Given the description of an element on the screen output the (x, y) to click on. 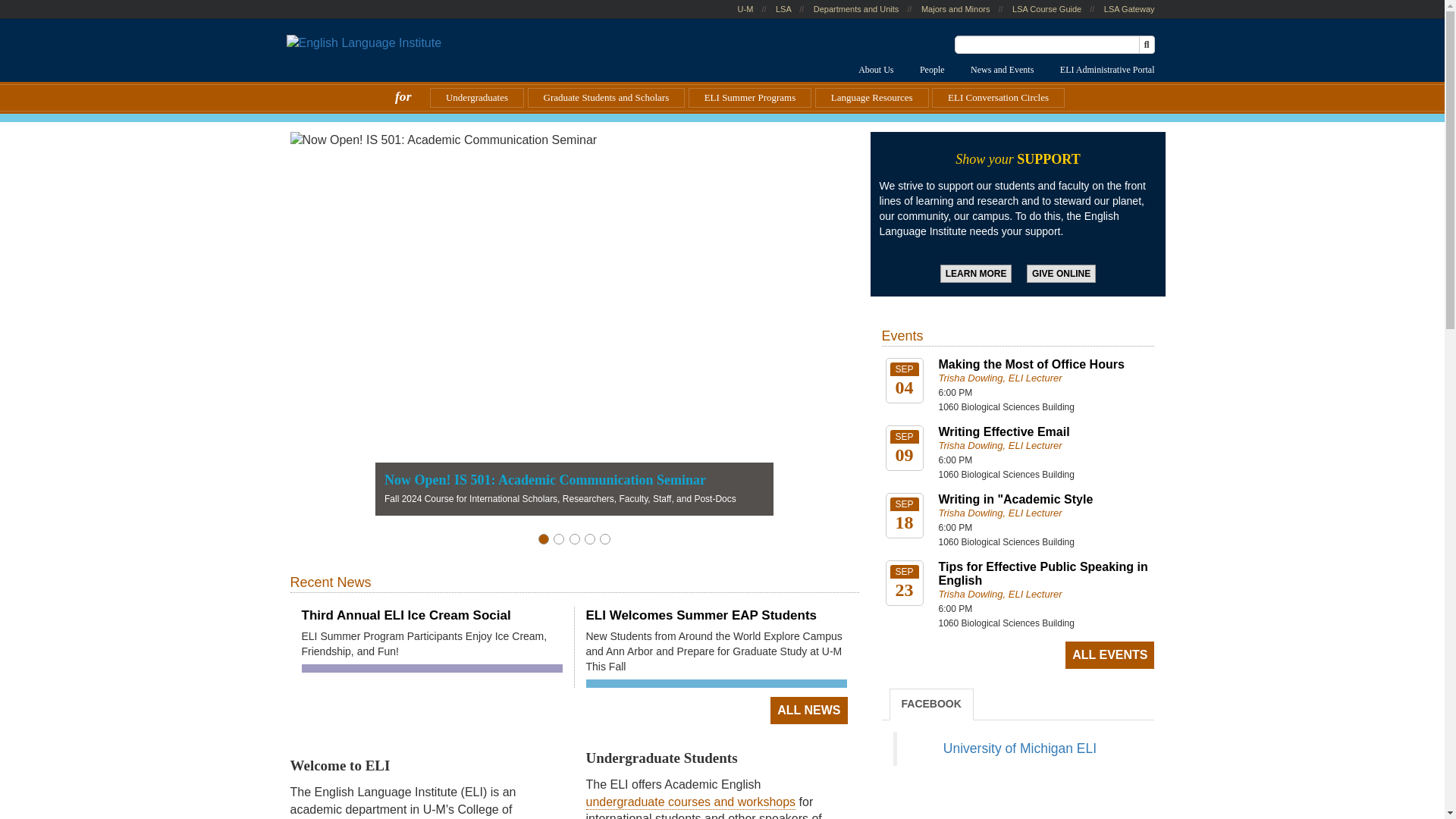
Undergraduates (476, 97)
Graduate Students and Scholars (606, 97)
Majors and Minors (955, 8)
LSA Course Guide (1046, 8)
English Language Institute (364, 43)
LSA Gateway (1128, 8)
Departments and Units (856, 8)
LSA (783, 8)
U-M (746, 8)
About Us (875, 69)
